Given the description of an element on the screen output the (x, y) to click on. 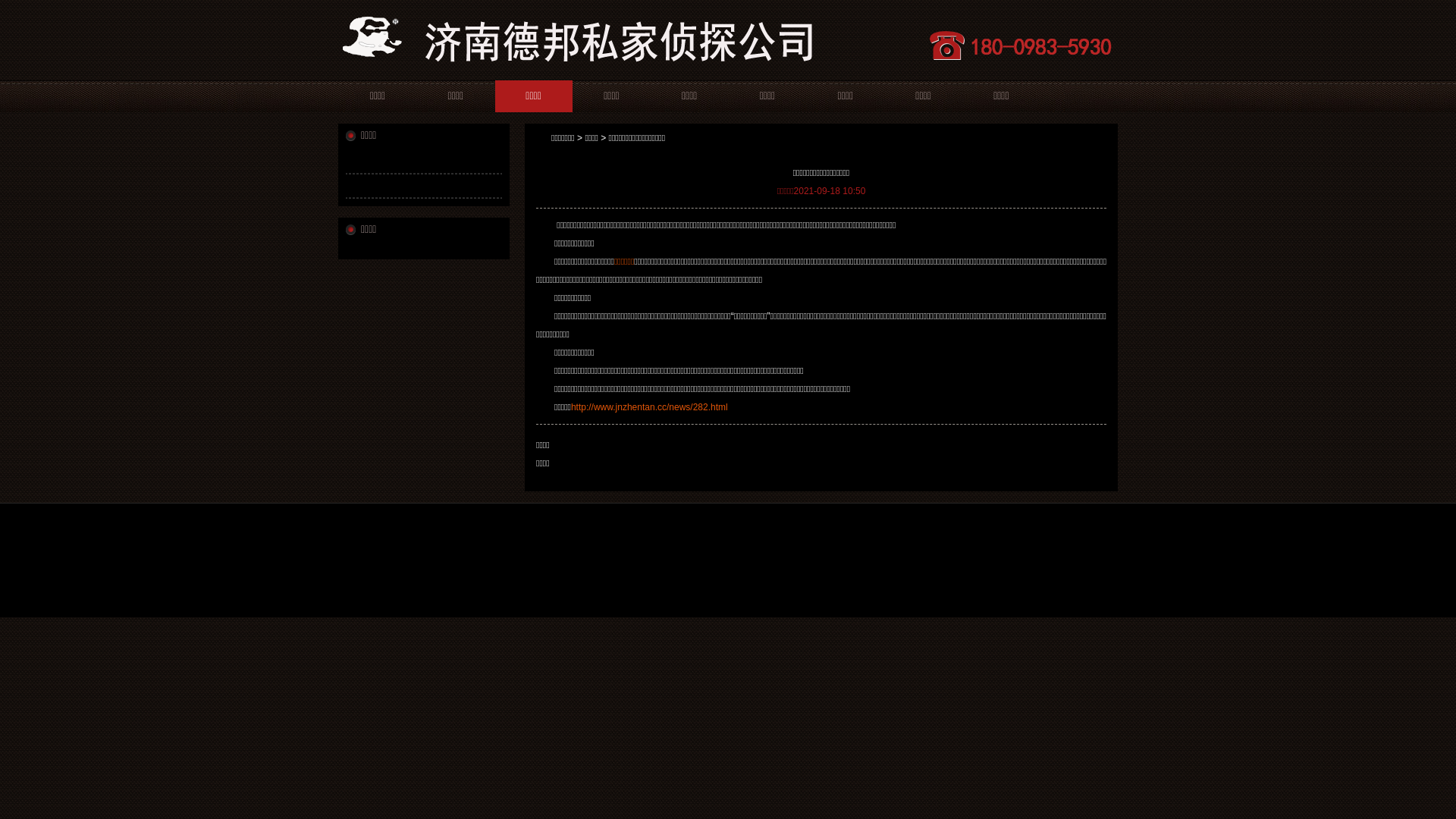
http://www.jnzhentan.cc/news/282.html Element type: text (649, 406)
